Given the description of an element on the screen output the (x, y) to click on. 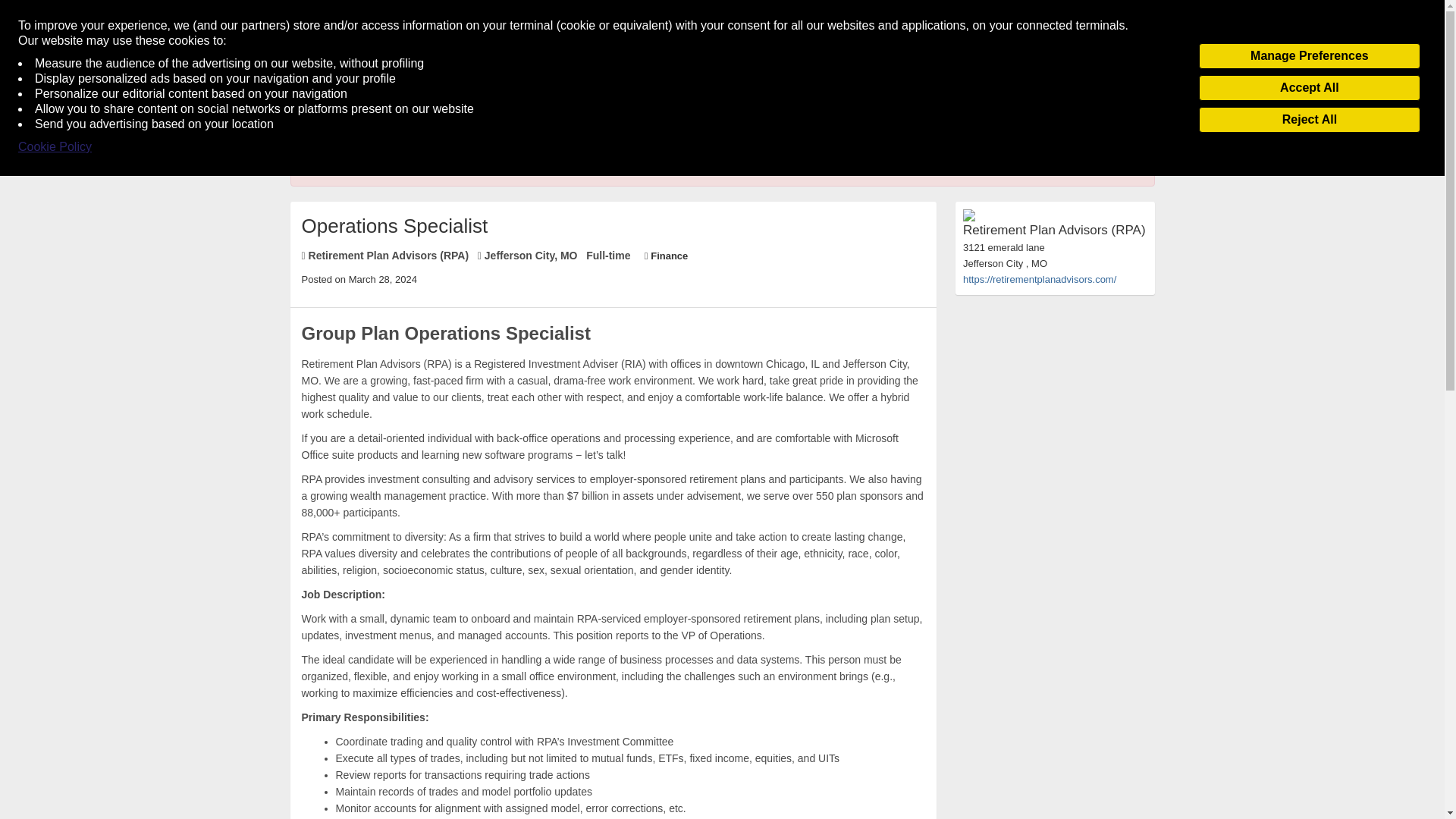
Manage Preferences (1309, 55)
Jobs (336, 97)
Back to Results (329, 132)
Accept All (1309, 87)
Employer Login (1010, 97)
Reject All (1309, 119)
Post a Job (1117, 97)
Cookie Policy (54, 146)
Get Job Alerts (412, 97)
